Given the description of an element on the screen output the (x, y) to click on. 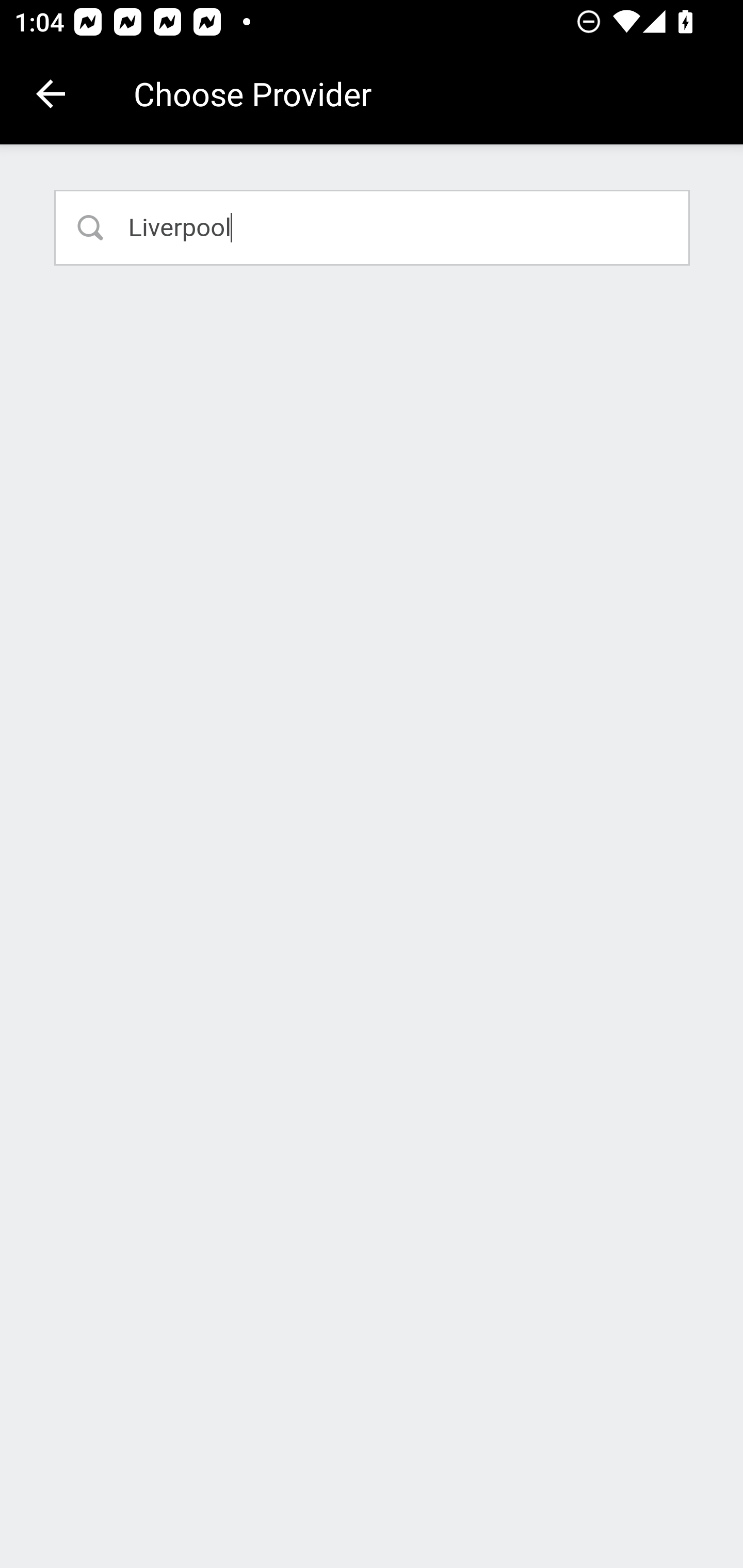
Navigate up (50, 93)
Liverpool (372, 227)
